Given the description of an element on the screen output the (x, y) to click on. 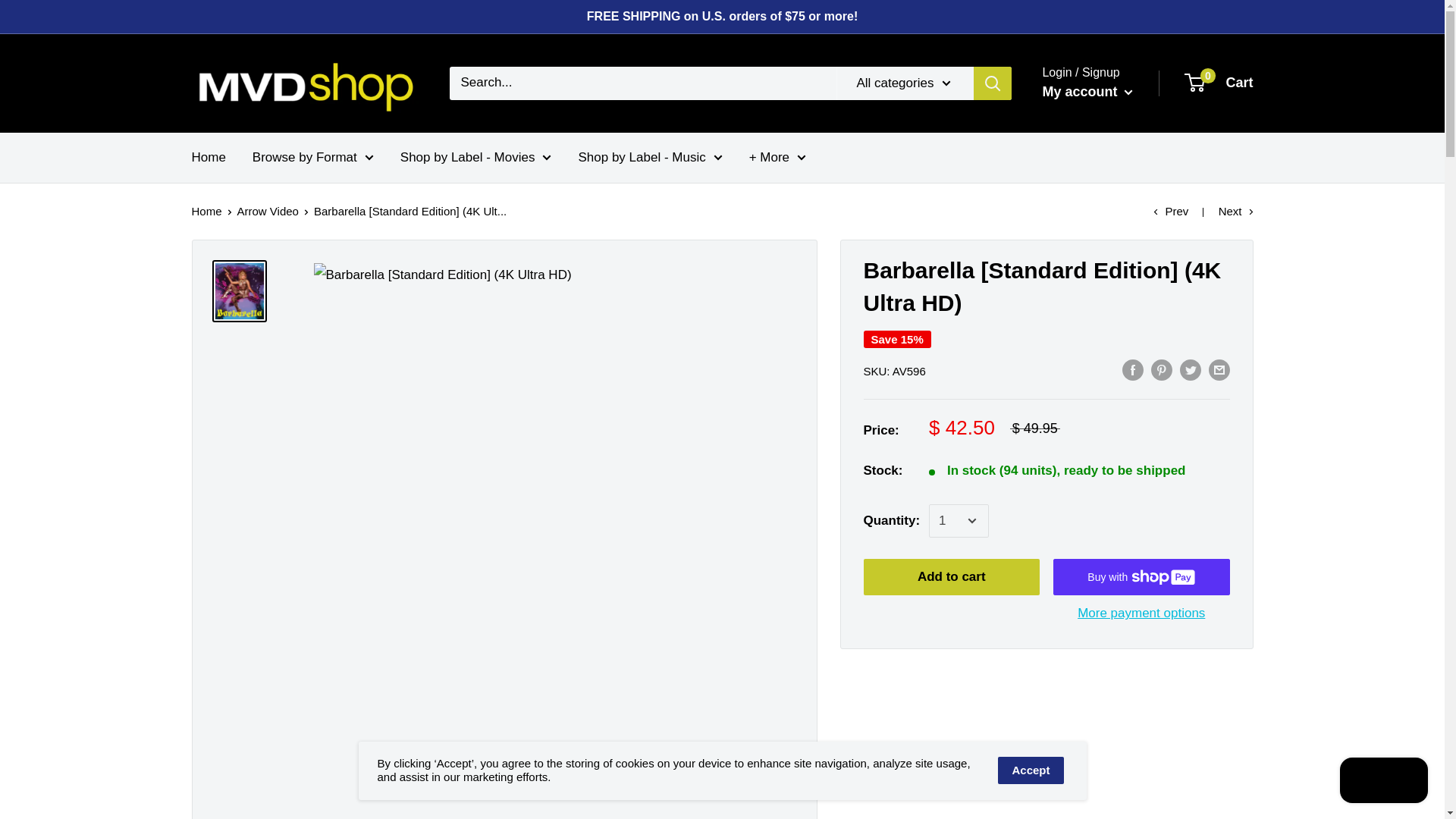
Shopify online store chat (1383, 781)
